Given the description of an element on the screen output the (x, y) to click on. 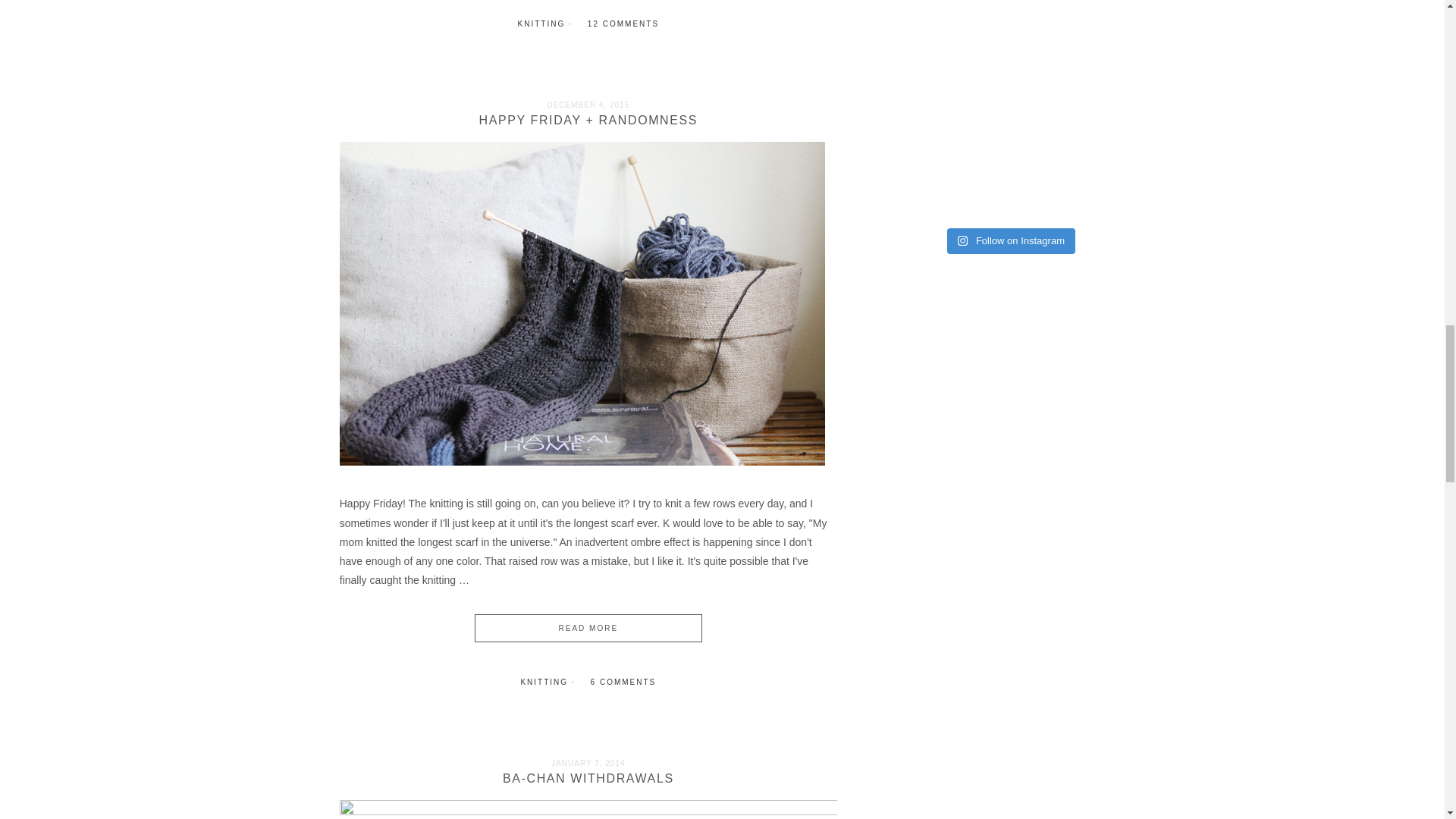
KNITTING (543, 682)
BA-CHAN WITHDRAWALS (588, 778)
KNITTING (542, 23)
6 COMMENTS (623, 682)
12 COMMENTS (623, 23)
READ MORE (587, 628)
